Given the description of an element on the screen output the (x, y) to click on. 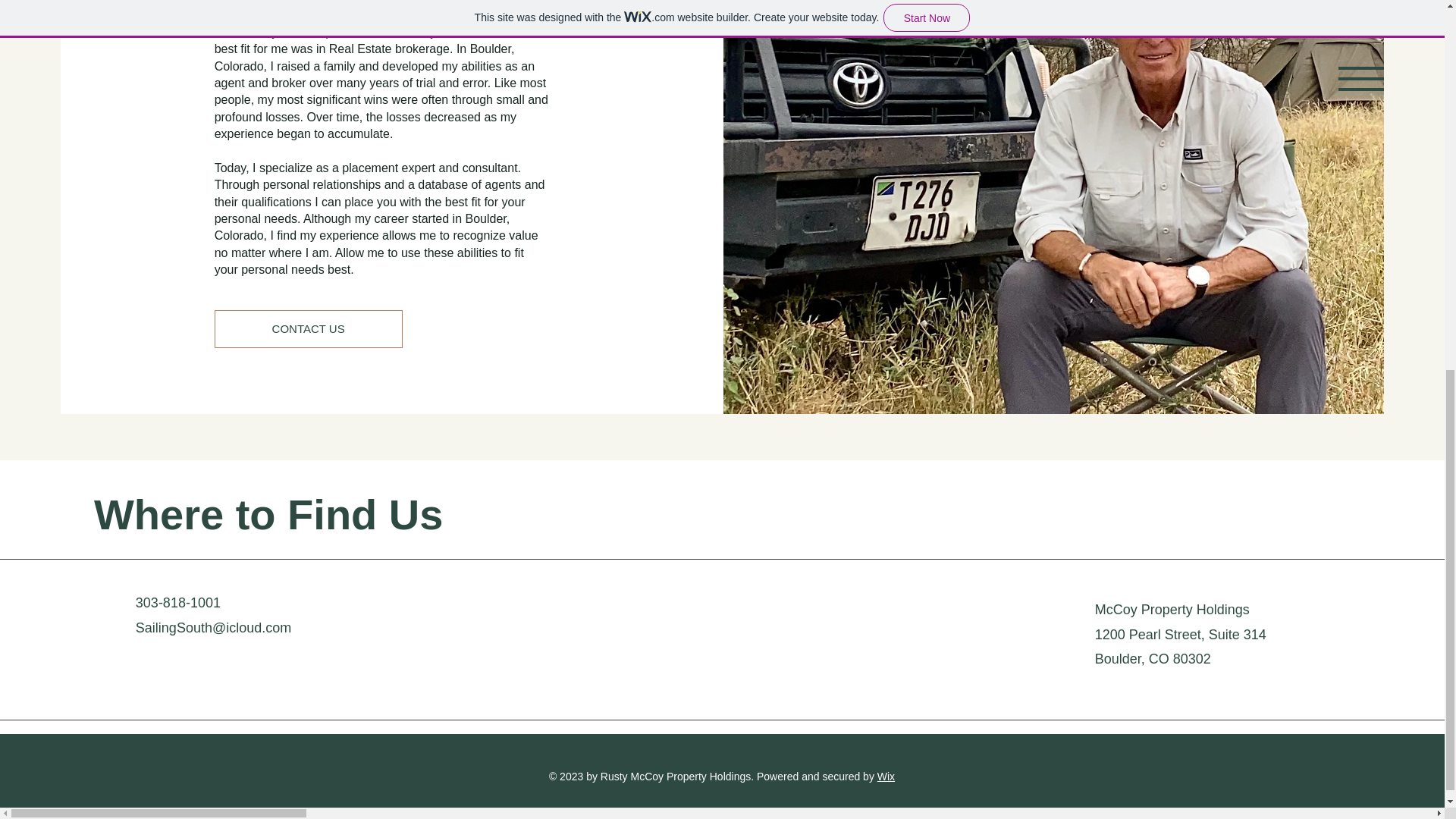
Wix (886, 776)
CONTACT US (308, 329)
